Given the description of an element on the screen output the (x, y) to click on. 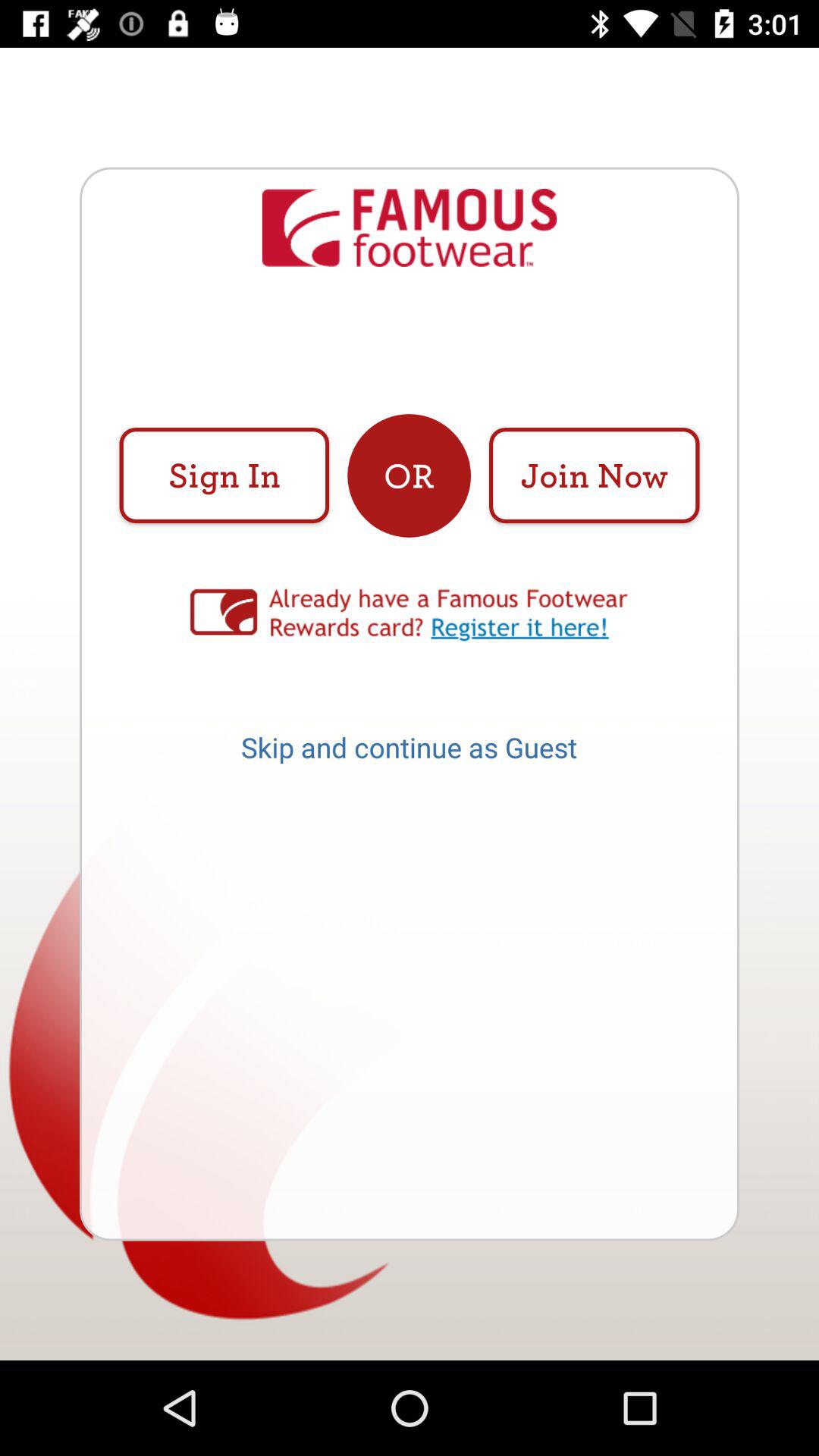
flip to skip and continue item (409, 752)
